Given the description of an element on the screen output the (x, y) to click on. 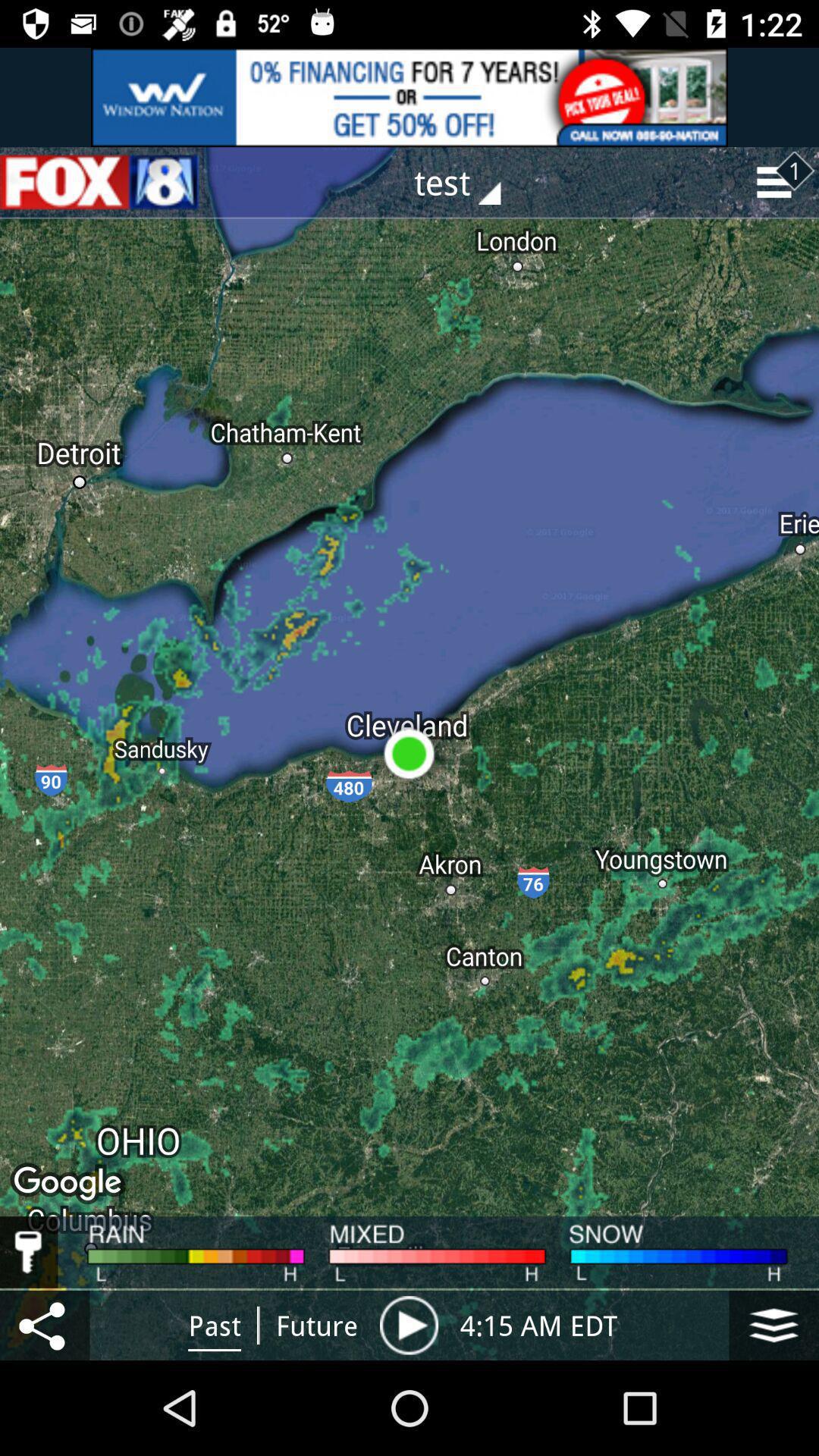
click on pause (409, 1324)
select google below ohio (69, 1184)
click on the option next to past at the bottom (317, 1325)
click on drop down button with text test (468, 181)
click on the icon at right side of 415 am edt (774, 1324)
click on drop down icon which is below the 122 (778, 181)
